Given the description of an element on the screen output the (x, y) to click on. 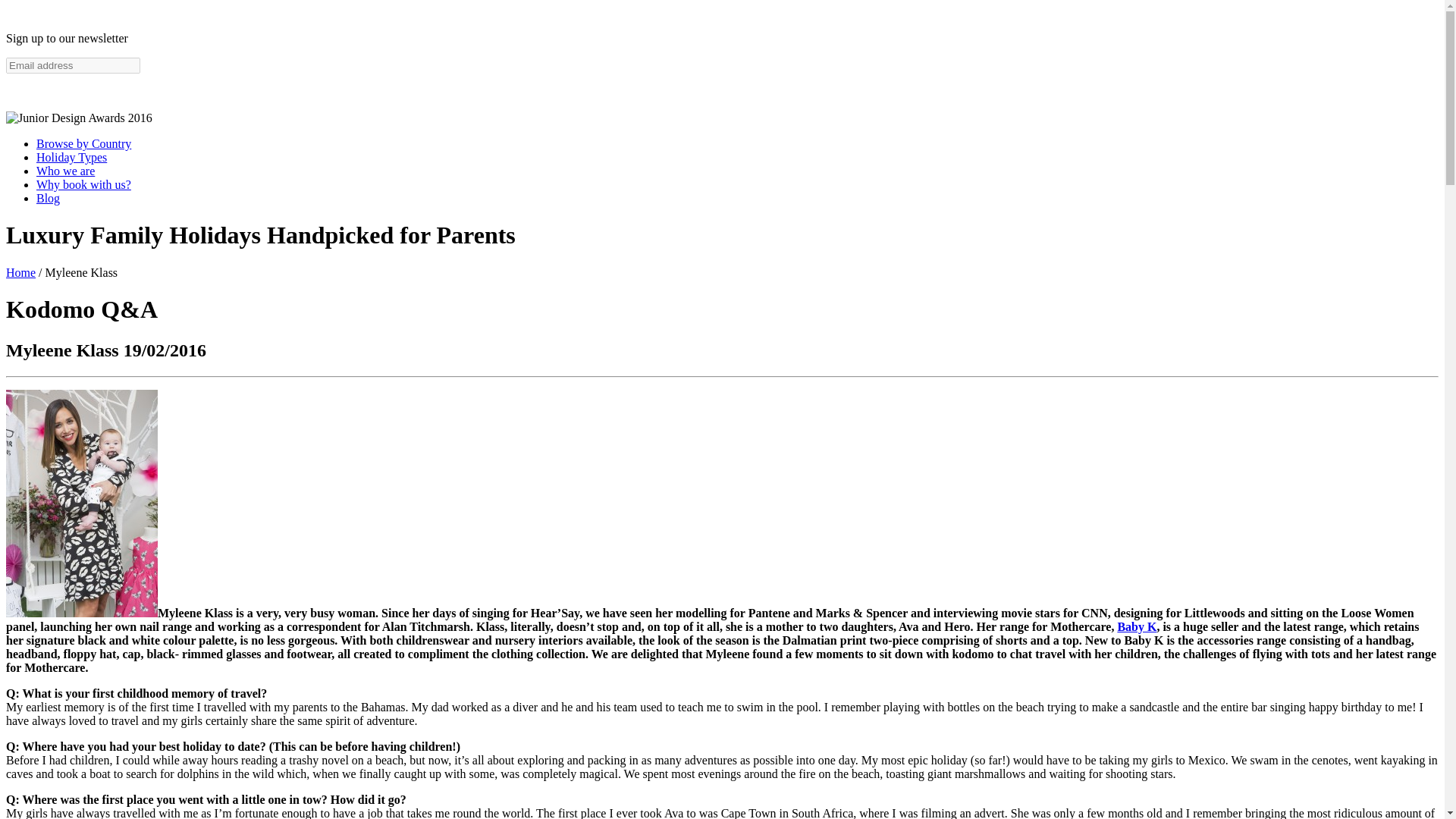
Home (19, 272)
Baby K (1136, 626)
Browse by Country (83, 143)
Who we are (65, 170)
Why book with us? (83, 184)
Blog (47, 197)
Holiday Types (71, 156)
